Given the description of an element on the screen output the (x, y) to click on. 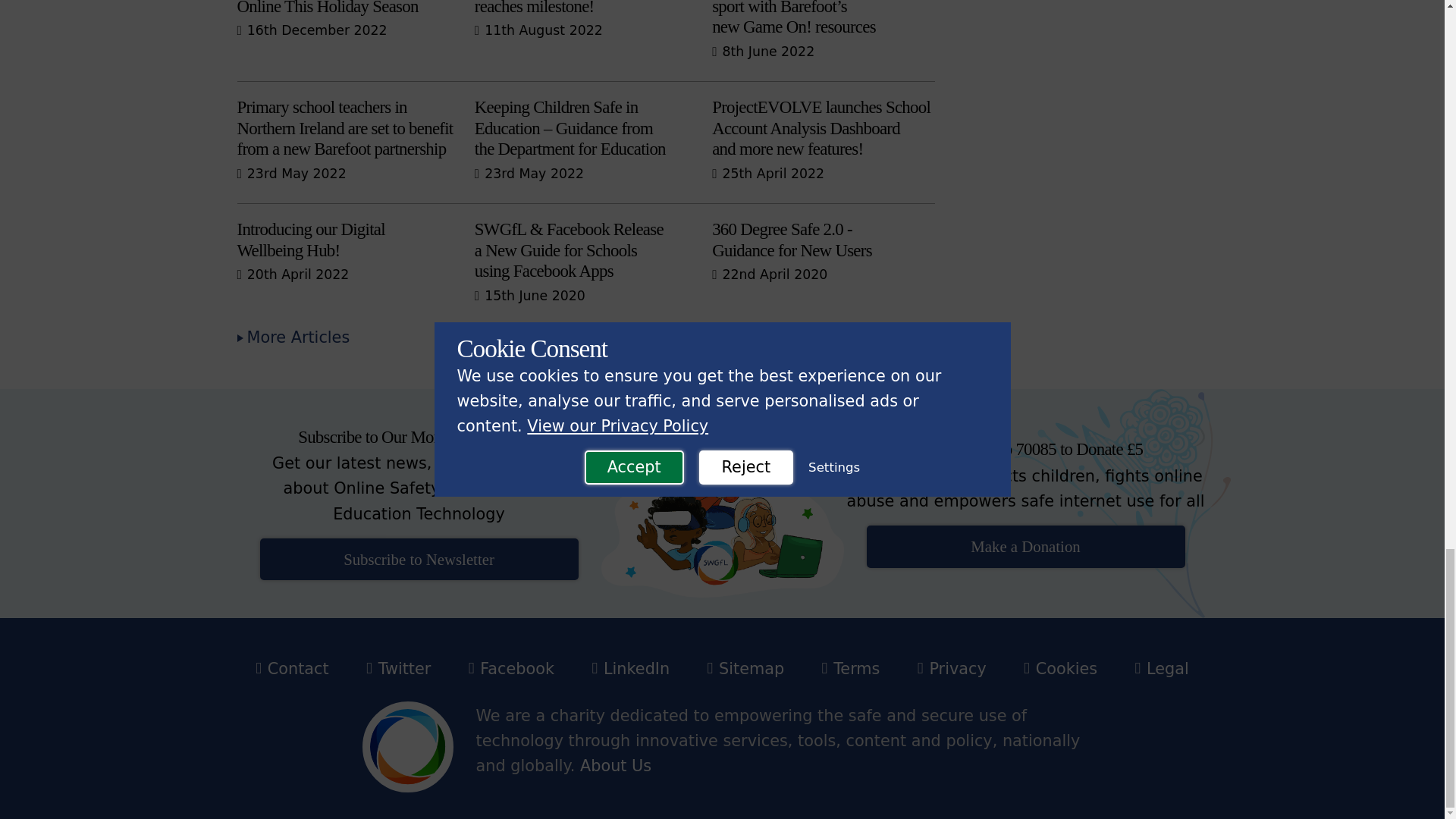
Subscribe to Newsletter (418, 558)
Contact (292, 669)
Facebook (511, 669)
Make a Donation (1025, 546)
Twitter (346, 246)
More Articles (398, 669)
